Given the description of an element on the screen output the (x, y) to click on. 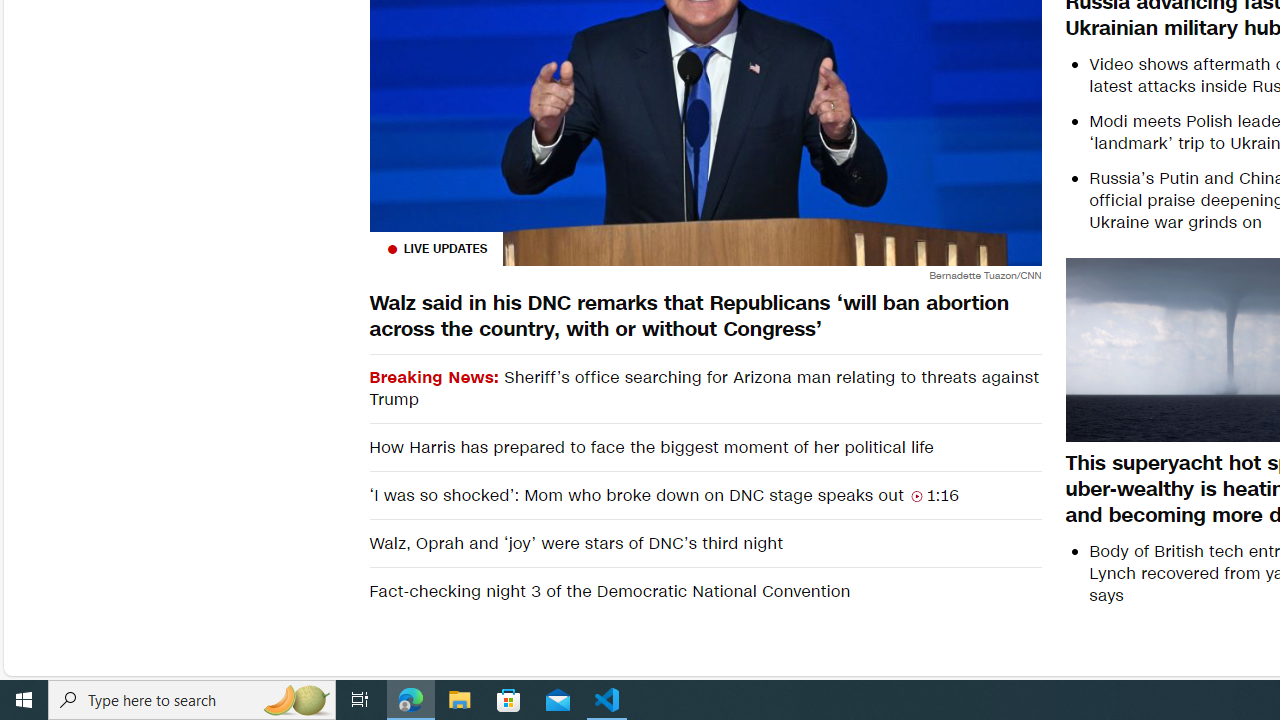
Fact-checking night 3 of the Democratic National Convention (704, 591)
Class: container__video-duration-icon (916, 495)
